Given the description of an element on the screen output the (x, y) to click on. 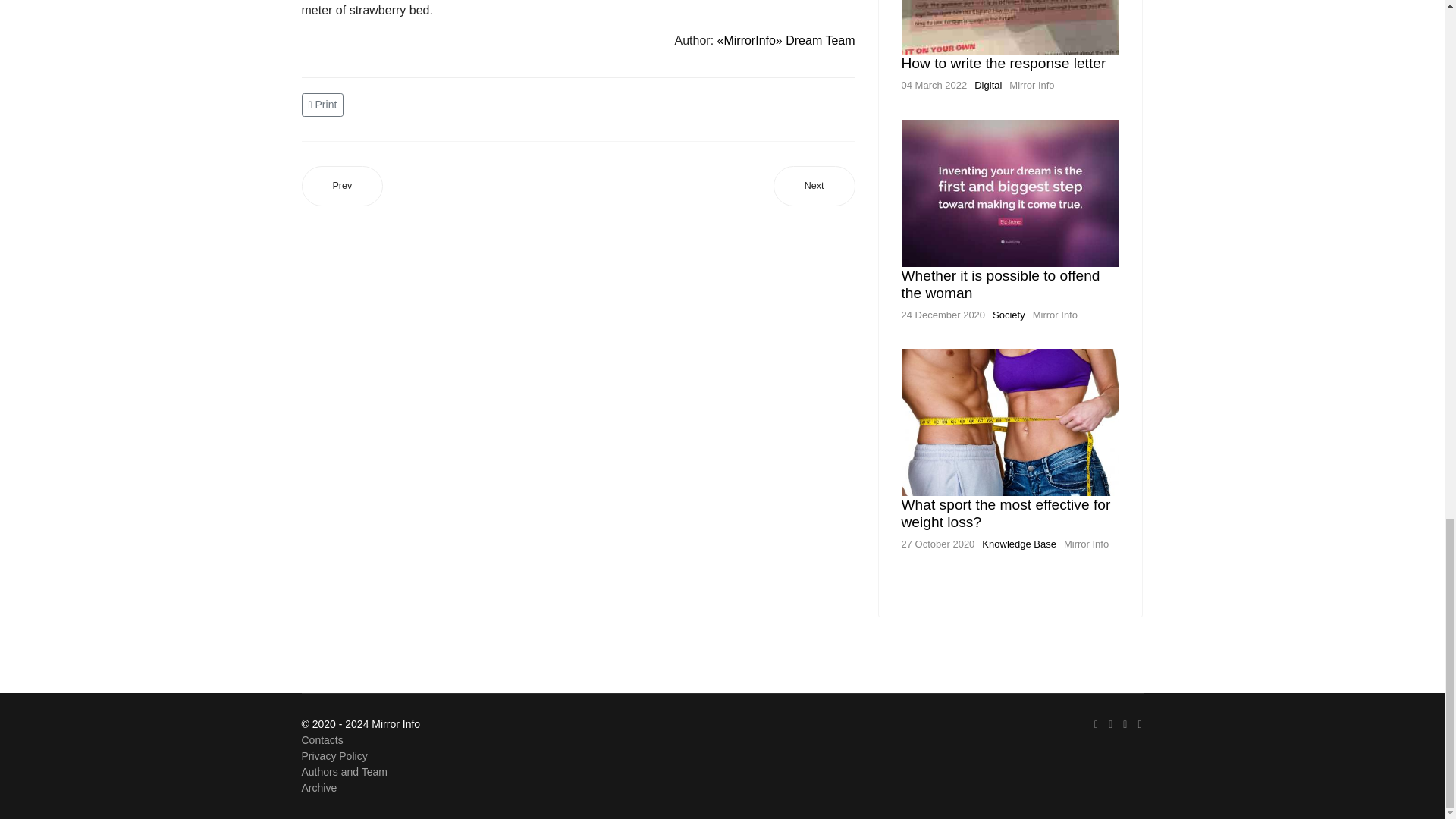
Prev (342, 186)
Print (324, 103)
Next (814, 186)
